Given the description of an element on the screen output the (x, y) to click on. 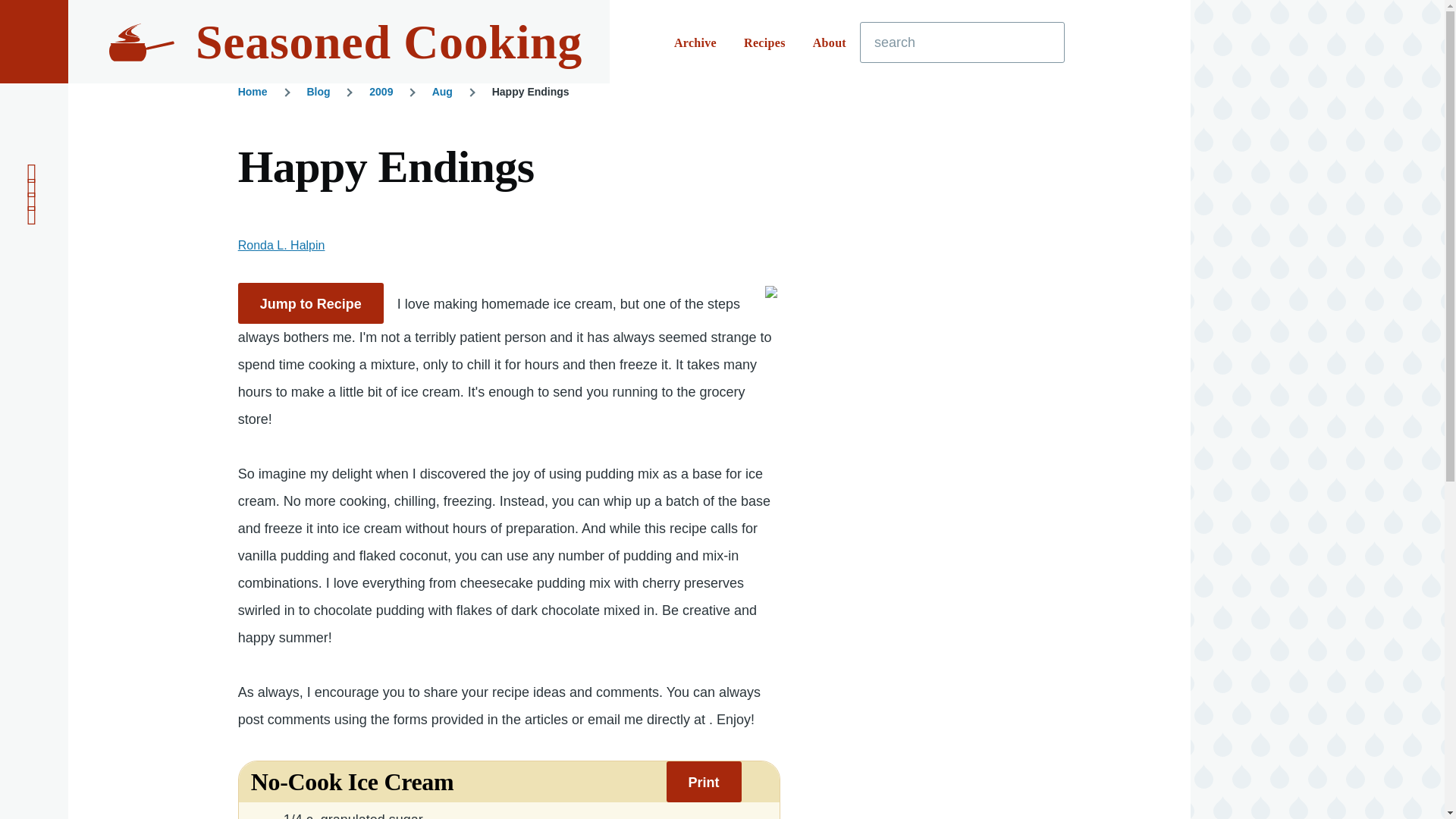
2009 (381, 91)
Home (388, 41)
Skip to main content (595, 6)
Advertisement (970, 720)
Ronda L. Halpin (281, 245)
Jump to Recipe (311, 302)
Blog (317, 91)
Home (252, 91)
Print (703, 781)
No-Cook Ice Cream (352, 782)
